Given the description of an element on the screen output the (x, y) to click on. 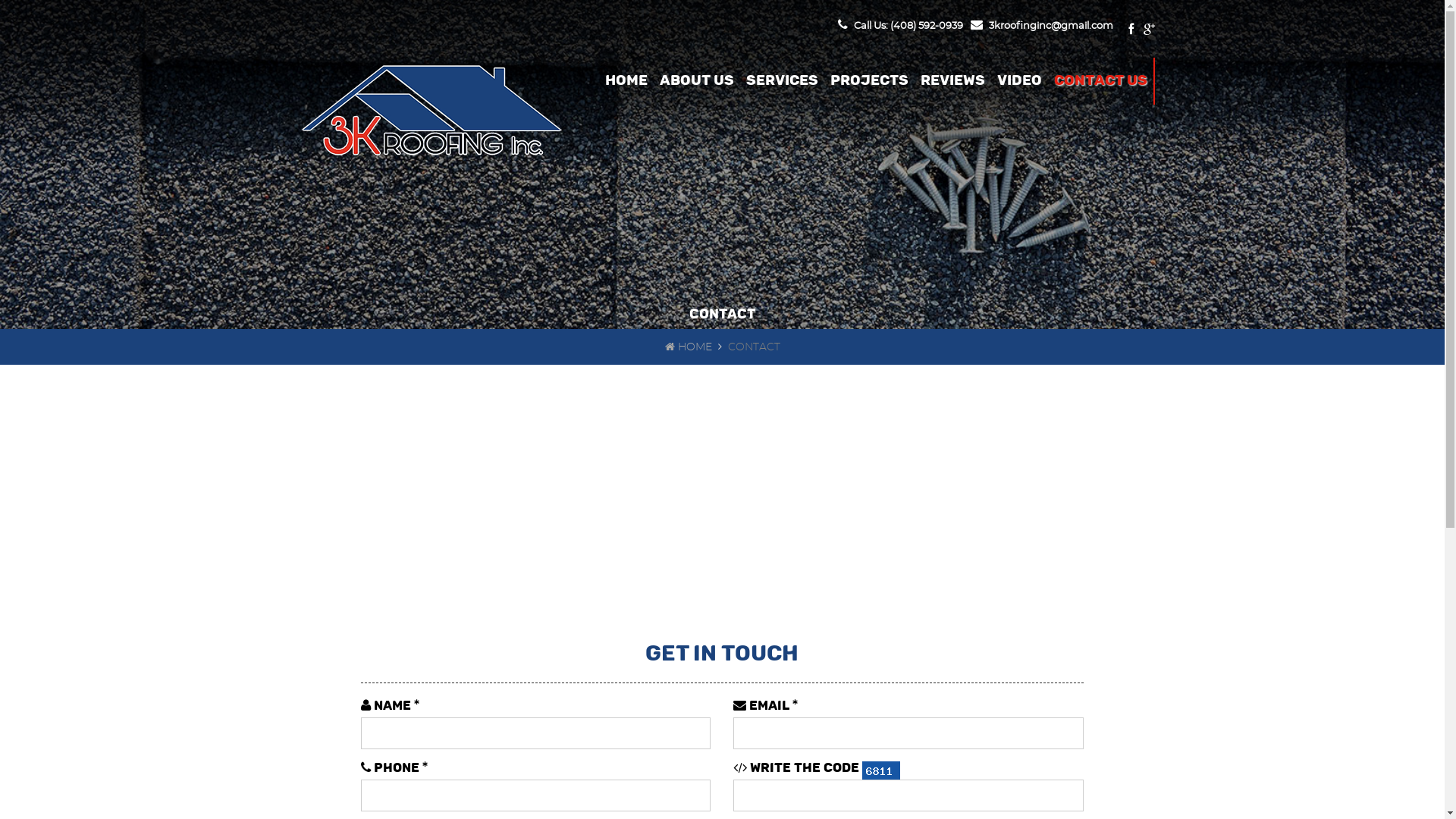
HOME Element type: text (687, 347)
VIDEO Element type: text (1018, 80)
3kroofinginc@gmail.com Element type: text (1041, 26)
PROJECTS Element type: text (868, 80)
ABOUT US Element type: text (696, 80)
CONTACT US Element type: text (1101, 80)
REVIEWS Element type: text (952, 80)
SERVICES Element type: text (782, 80)
HOME Element type: text (626, 80)
Call Us: (408) 592-0939 Element type: text (899, 26)
